Given the description of an element on the screen output the (x, y) to click on. 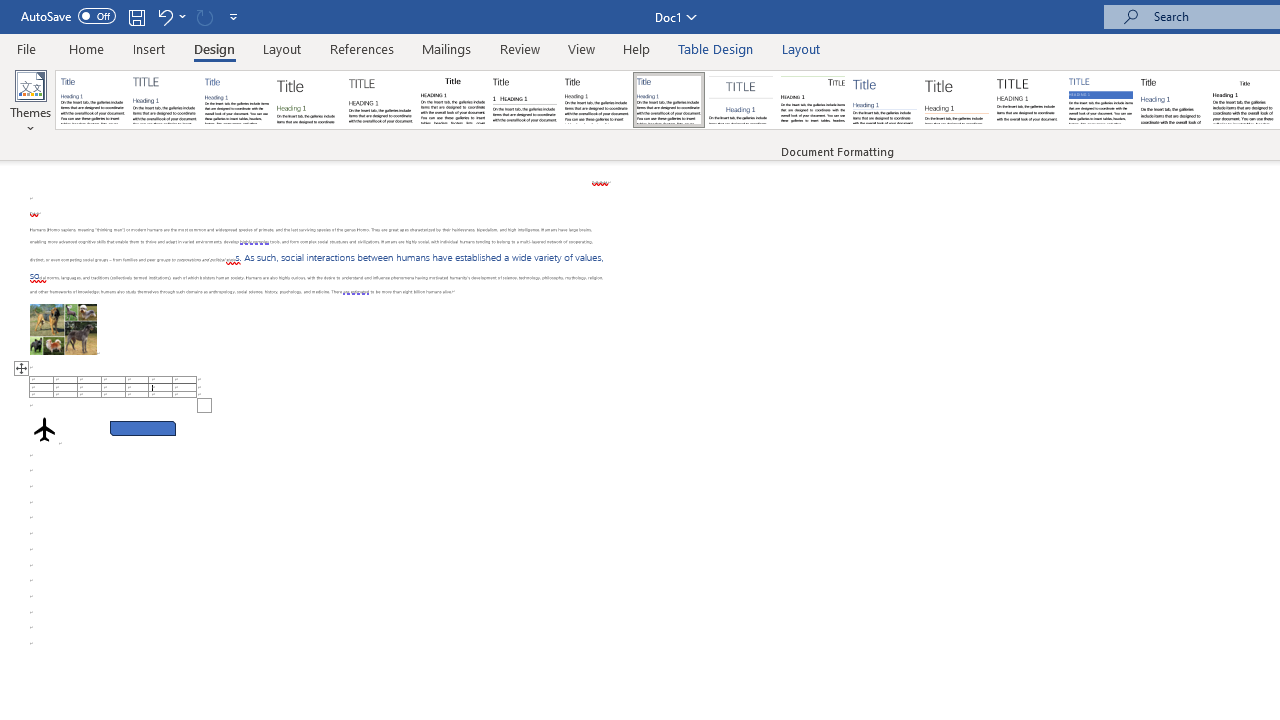
Document (93, 100)
Casual (669, 100)
Minimalist (1028, 100)
Black & White (Classic) (452, 100)
Black & White (Word 2013) (596, 100)
Shaded (1100, 100)
Morphological variation in six dogs (63, 328)
Table Design (715, 48)
Airplane with solid fill (43, 429)
Basic (Simple) (236, 100)
